Given the description of an element on the screen output the (x, y) to click on. 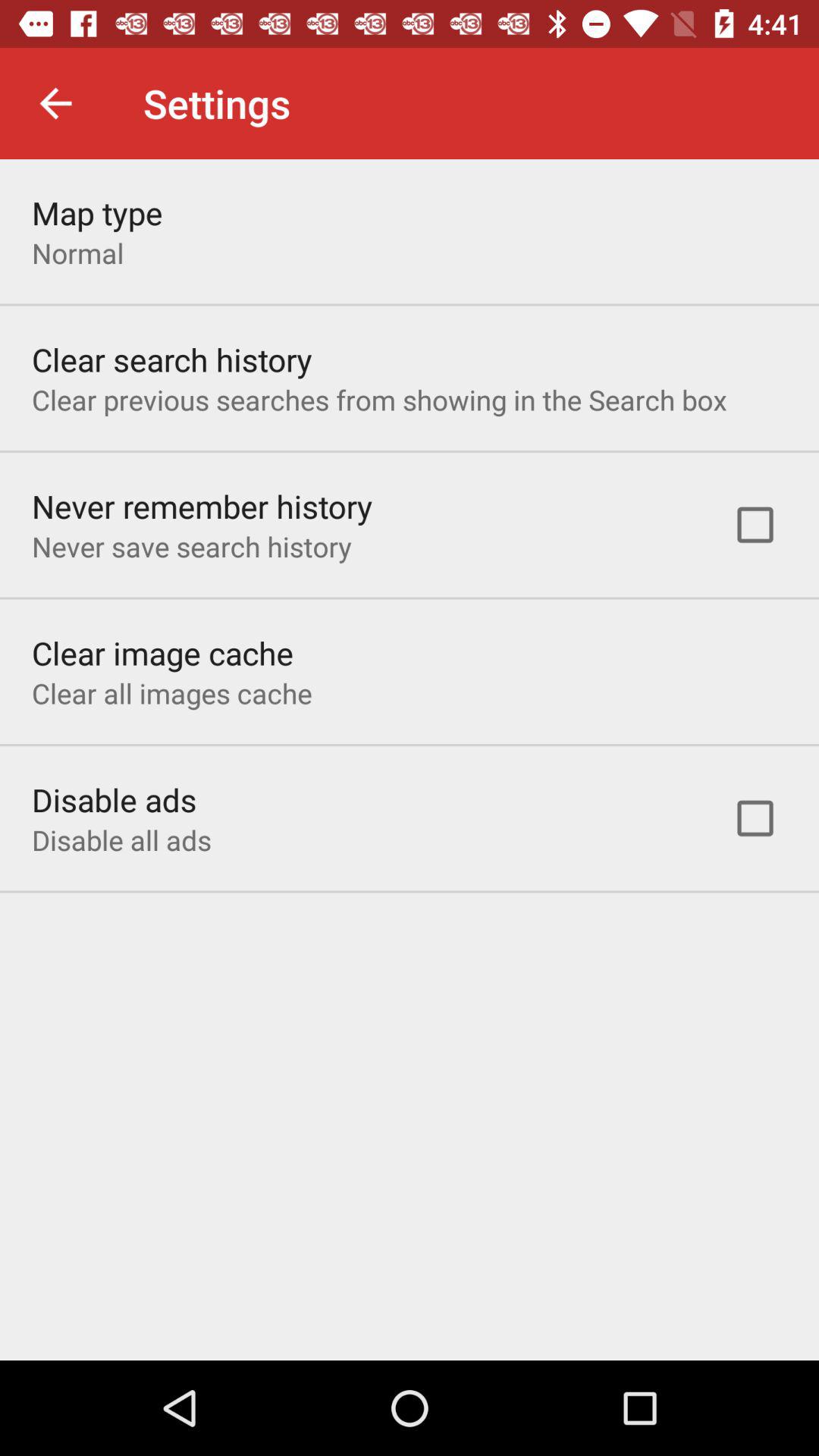
press the never save search item (191, 546)
